Given the description of an element on the screen output the (x, y) to click on. 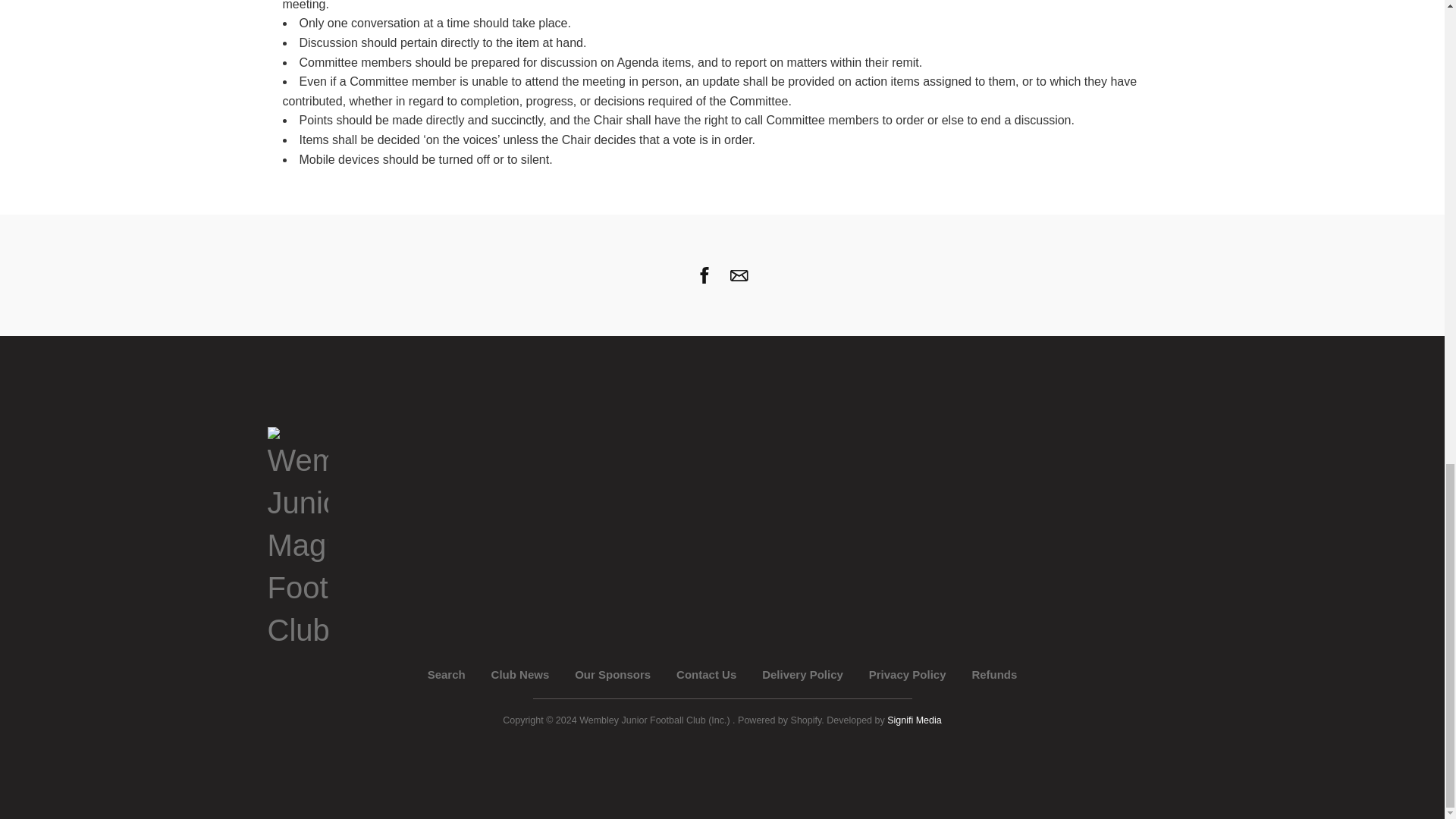
Our Sponsors (612, 674)
Contact Us (706, 674)
Club News (521, 674)
Search (446, 674)
